Given the description of an element on the screen output the (x, y) to click on. 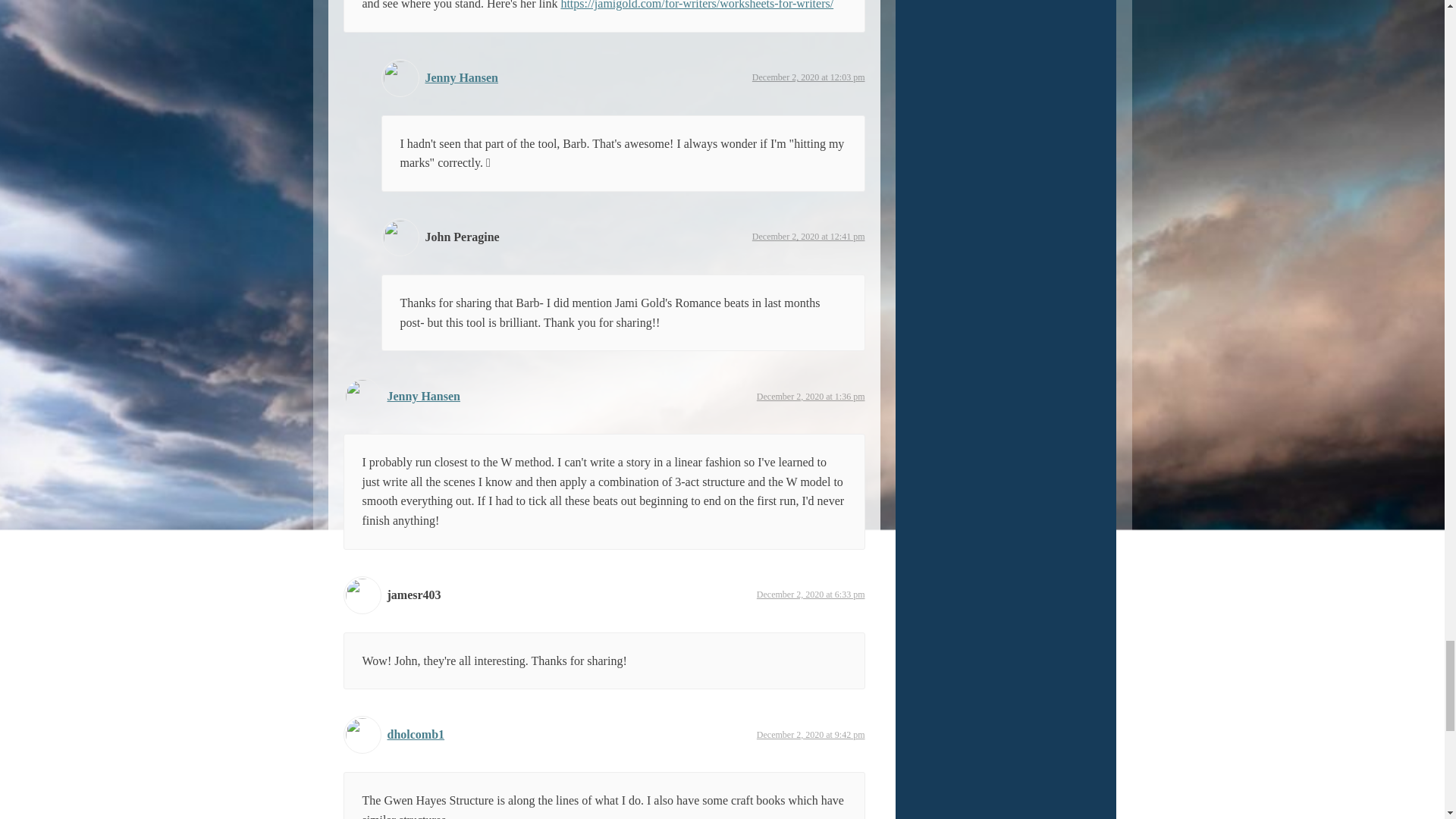
Jenny Hansen (461, 77)
